Given the description of an element on the screen output the (x, y) to click on. 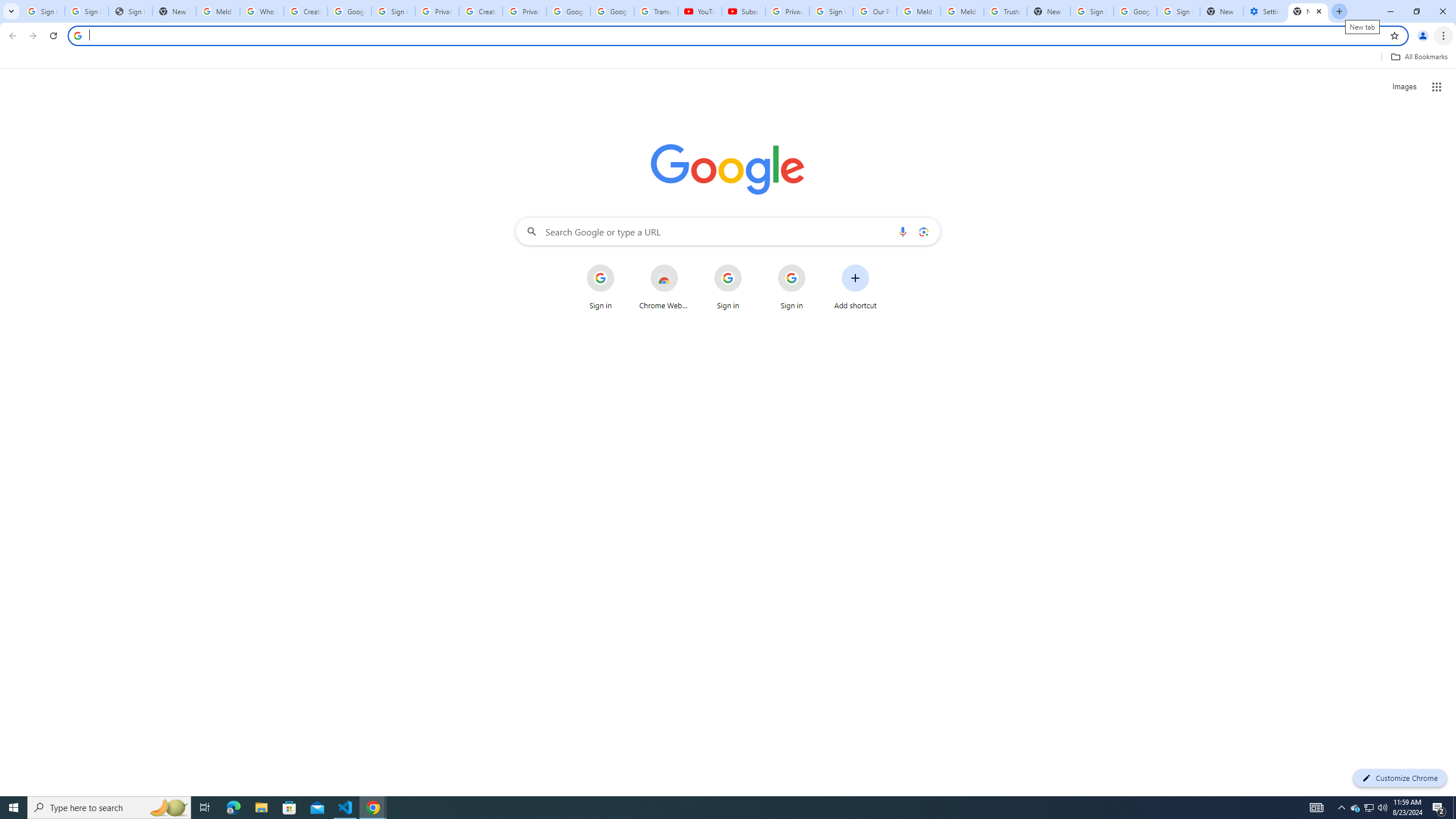
Trusted Information and Content - Google Safety Center (1005, 11)
Sign in - Google Accounts (830, 11)
Sign in - Google Accounts (393, 11)
Create your Google Account (481, 11)
Sign in - Google Accounts (1178, 11)
